Given the description of an element on the screen output the (x, y) to click on. 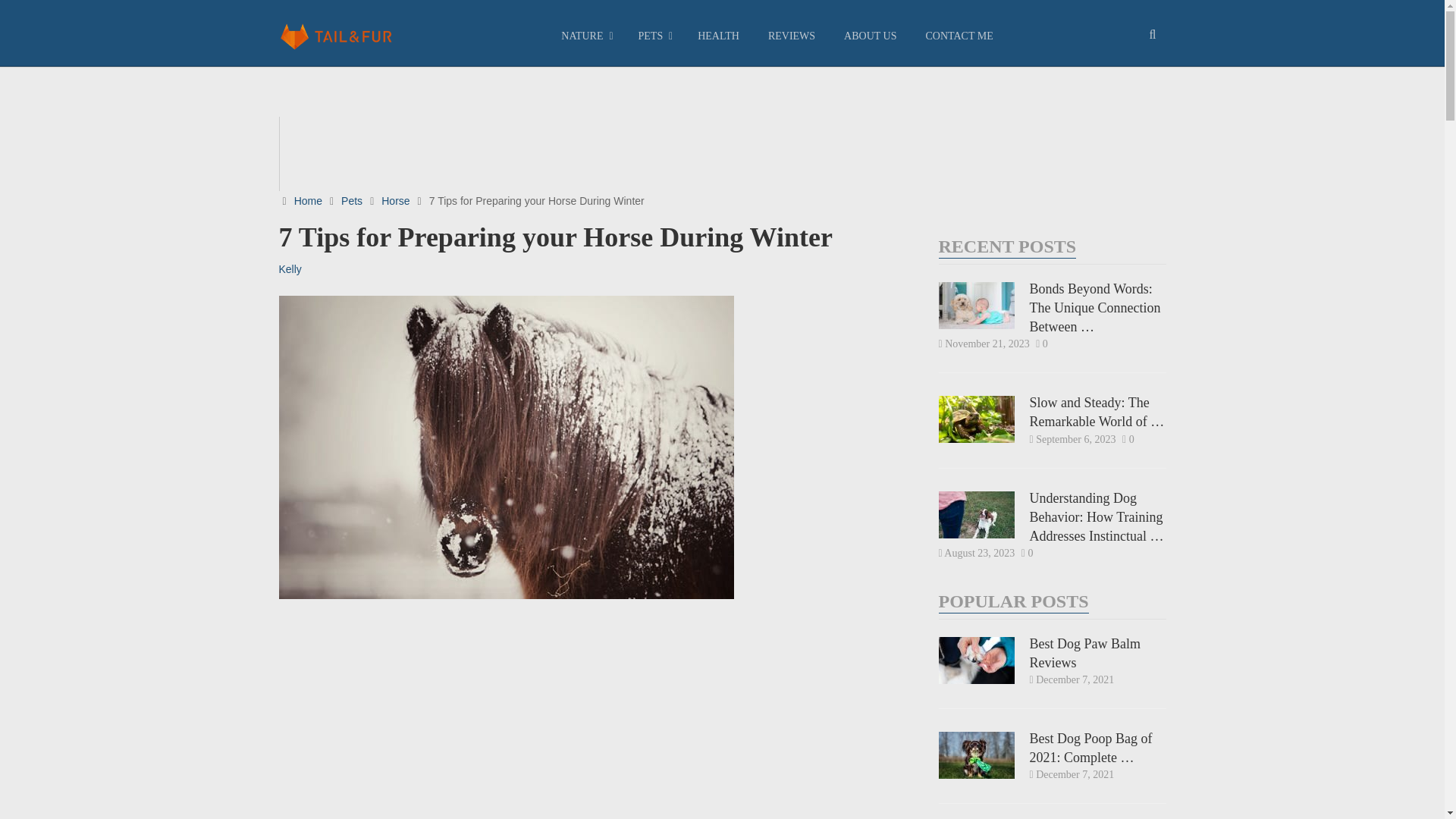
NATURE (585, 36)
ABOUT US (870, 36)
HEALTH (718, 36)
PETS (652, 36)
CONTACT ME (959, 36)
Posts by Kelly (290, 268)
Home (307, 200)
Pets (351, 200)
Slow and Steady: The Remarkable World of Turtle Behavior (1052, 412)
